Given the description of an element on the screen output the (x, y) to click on. 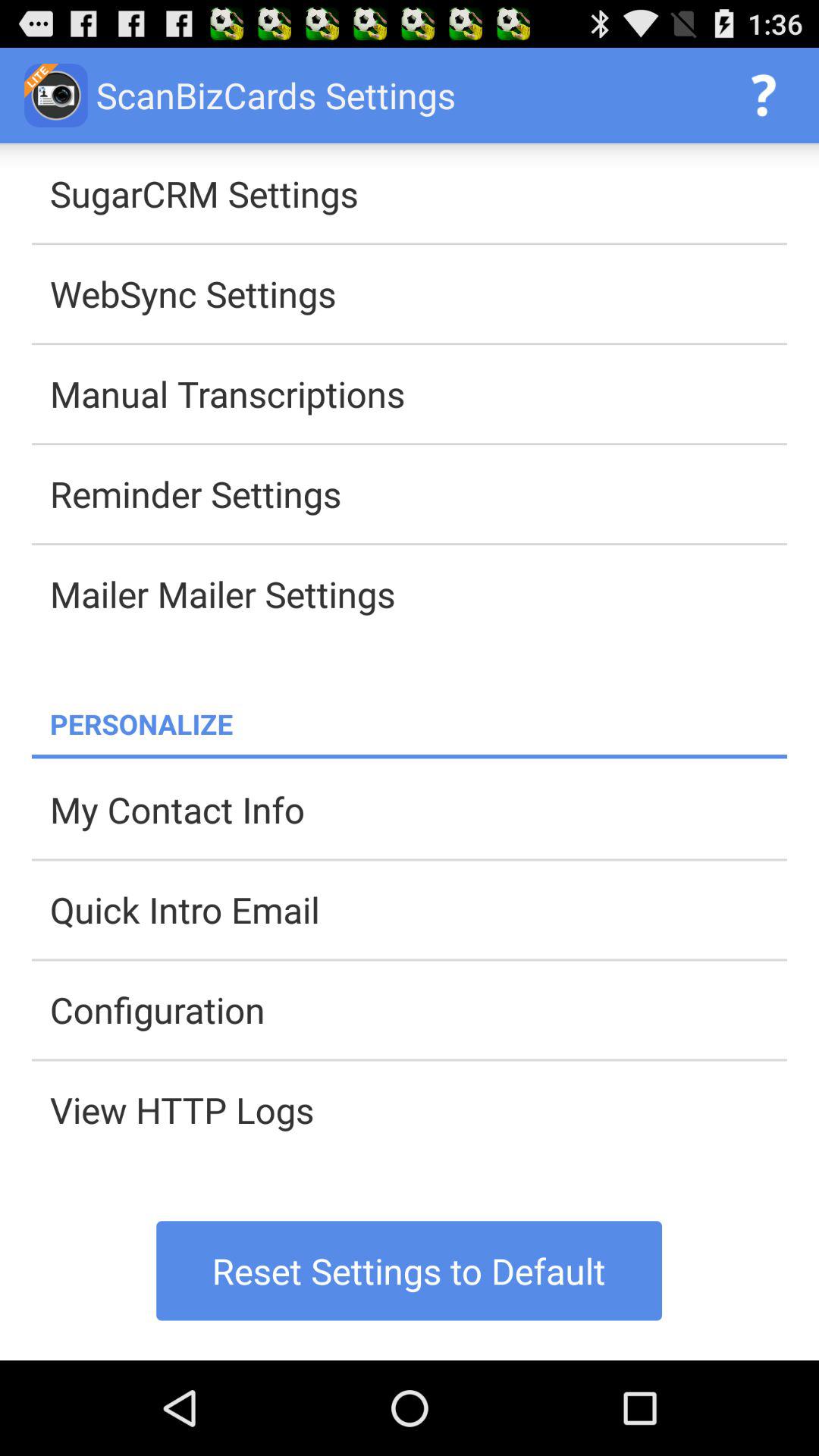
tap mailer mailer settings app (418, 593)
